Given the description of an element on the screen output the (x, y) to click on. 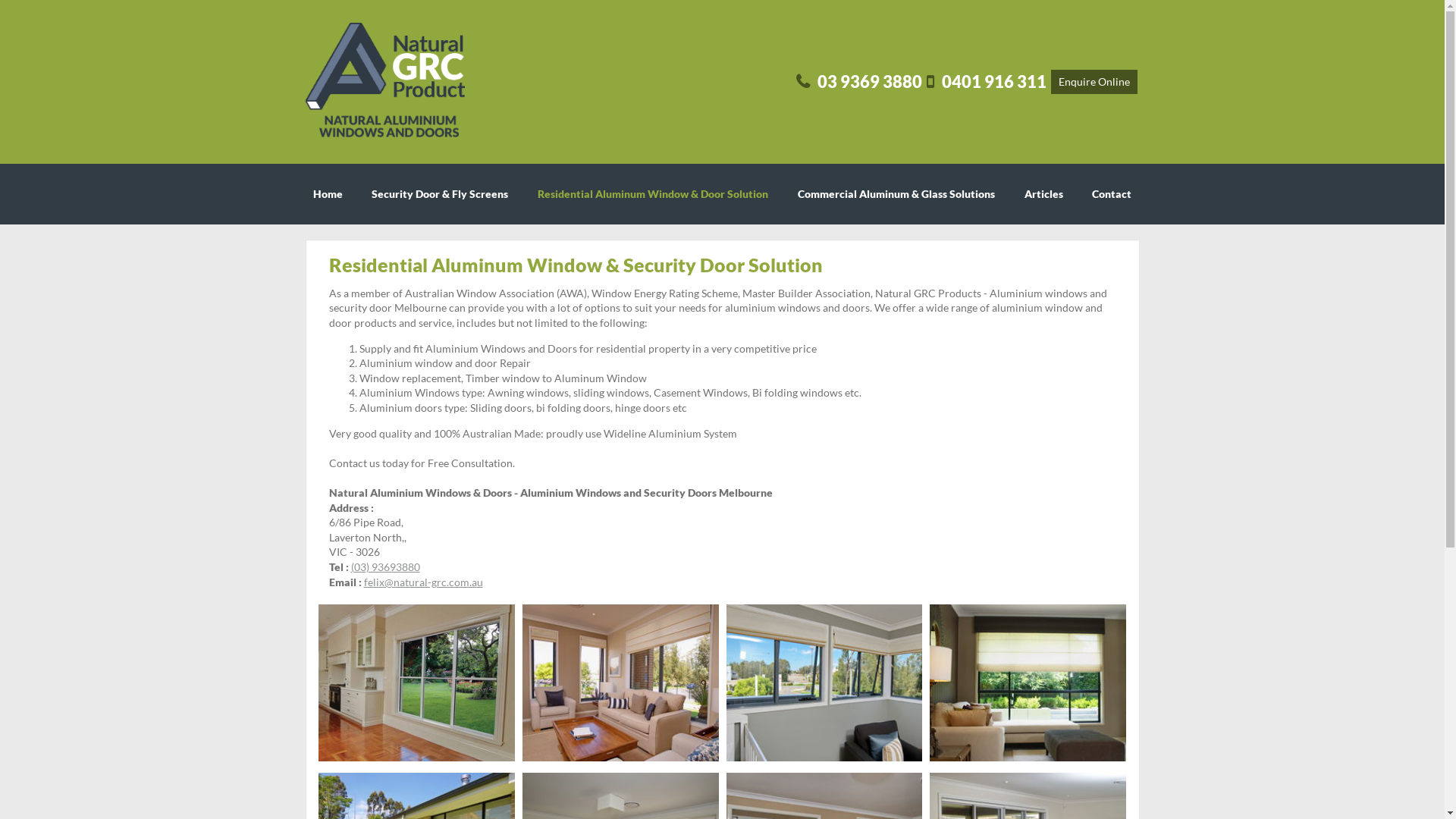
Home Element type: text (326, 193)
Commercial Aluminum & Glass Solutions Element type: text (896, 193)
Contact Element type: text (1111, 193)
Security Door & Fly Screens Element type: text (439, 193)
Residential Aluminum Window & Door Solution Element type: text (652, 193)
(03) 93693880 Element type: text (384, 566)
felix@natural-grc.com.au Element type: text (423, 581)
Articles Element type: text (1043, 193)
Enquire Online Element type: text (1094, 81)
